Given the description of an element on the screen output the (x, y) to click on. 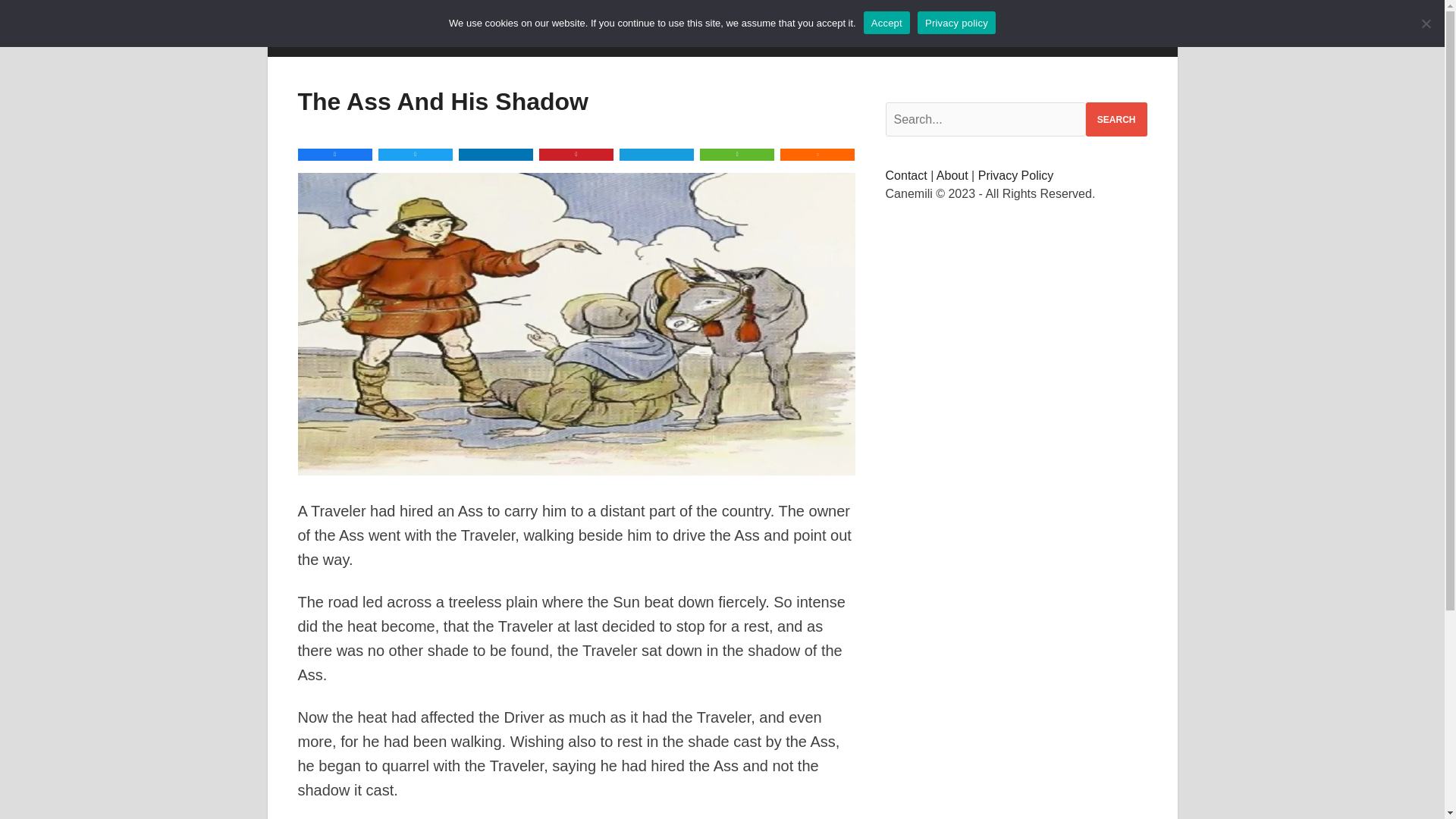
Contact (906, 174)
Privacy Policy (1016, 174)
CANEMILI (343, 39)
WhatsApp (737, 154)
Submit this to Pinterest (575, 154)
CLEAN JOKE (445, 39)
STORY FOR KIDS (565, 39)
RANDOM POST (896, 39)
Share this on Facebook (334, 154)
